Given the description of an element on the screen output the (x, y) to click on. 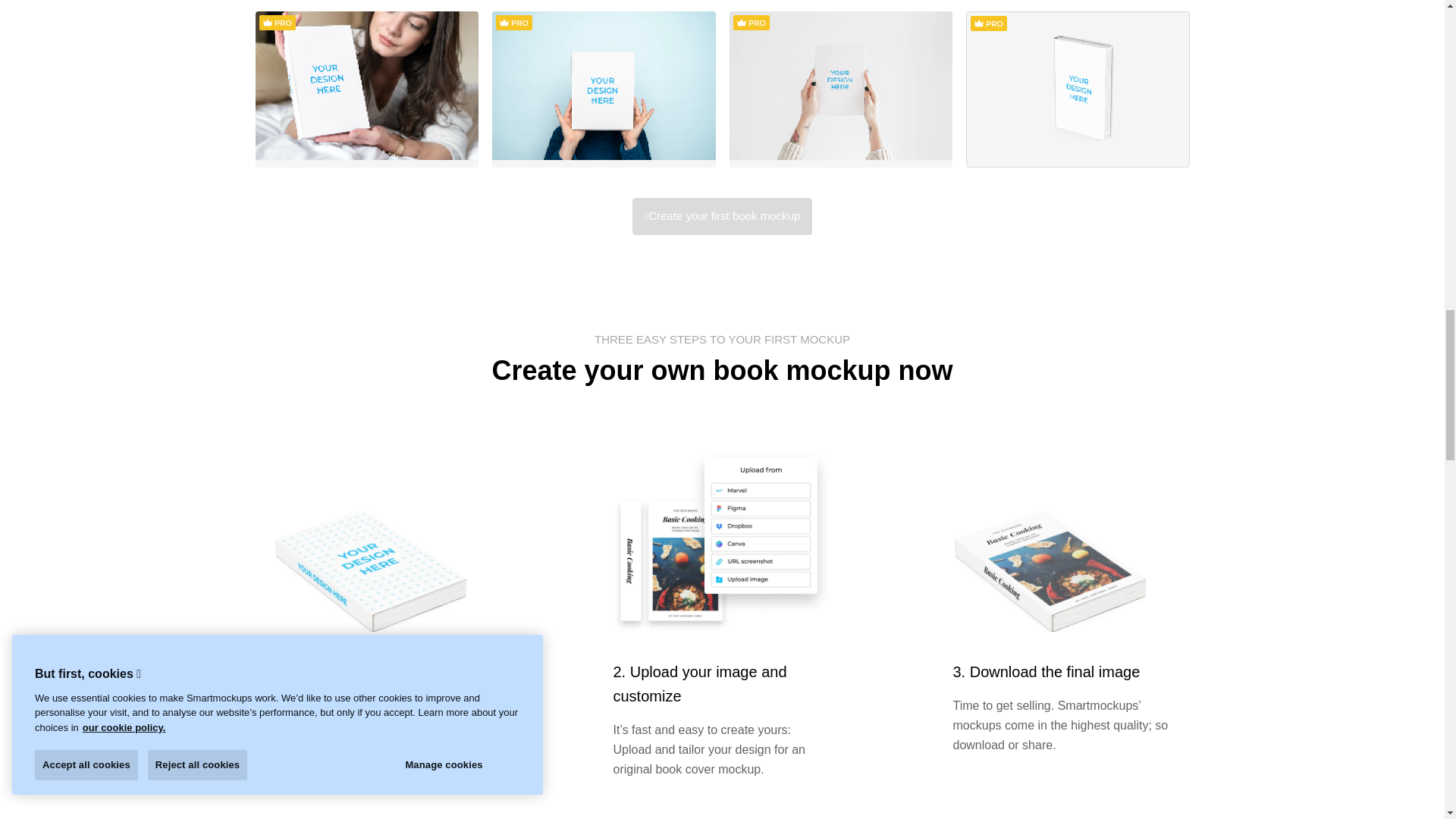
Pro mockup (989, 23)
Pro mockup (514, 22)
Thick portrait hard cover book 5.5x8.5 (1077, 89)
Pro mockup (750, 22)
Pro mockup (277, 22)
